Given the description of an element on the screen output the (x, y) to click on. 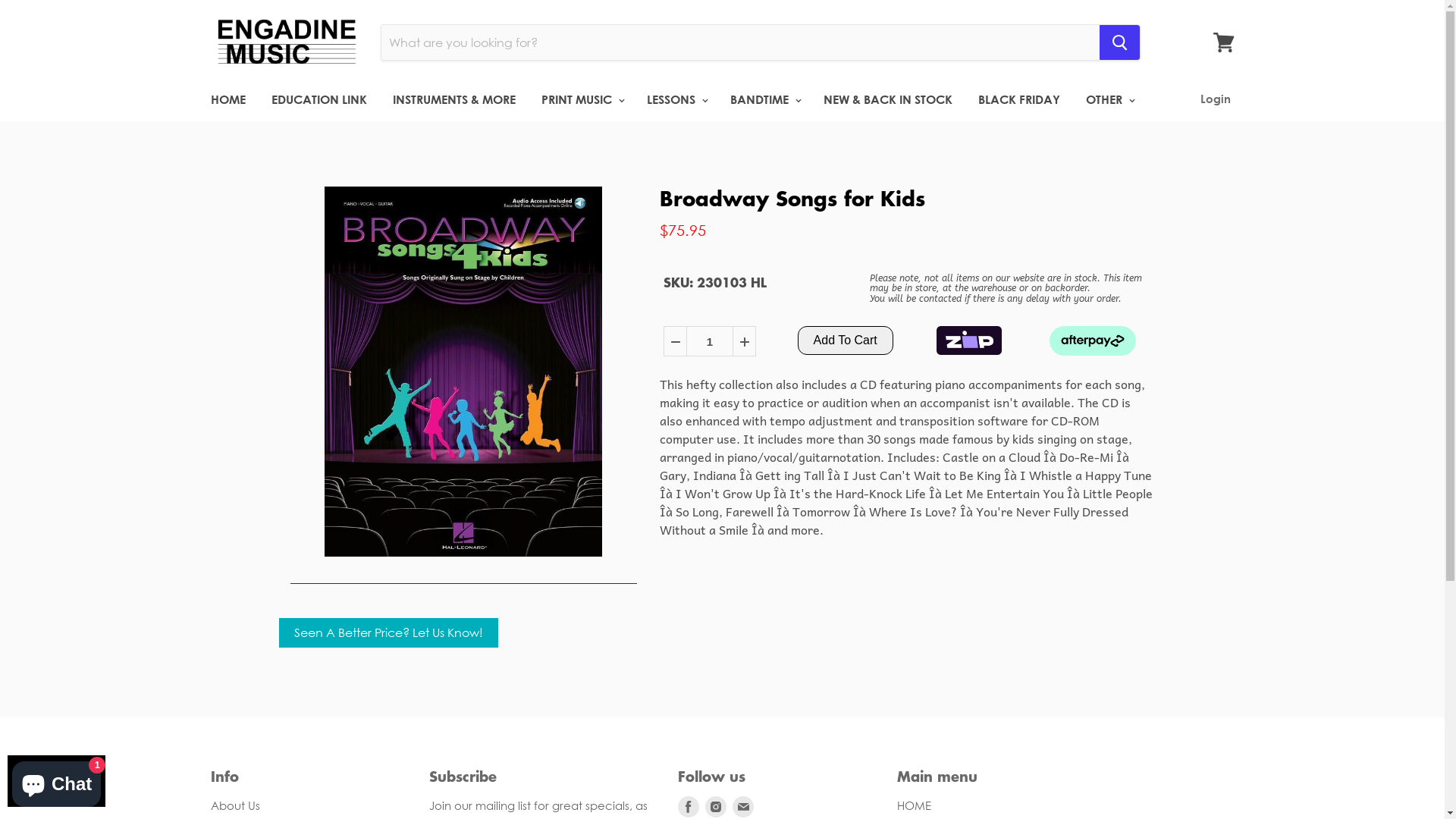
LESSONS Element type: text (675, 99)
BLACK FRIDAY Element type: text (1018, 99)
PRINT MUSIC Element type: text (580, 99)
Shopify online store chat Element type: hover (56, 780)
INSTRUMENTS & MORE Element type: text (453, 99)
Login Element type: text (1214, 99)
View cart Element type: text (1223, 42)
HOME Element type: text (227, 99)
Seen A Better Price? Let Us Know! Element type: text (388, 632)
NEW & BACK IN STOCK Element type: text (887, 99)
BANDTIME Element type: text (763, 99)
Broadway Songs for Kids Element type: text (792, 198)
EDUCATION LINK Element type: text (318, 99)
HOME Element type: text (913, 805)
About Us Element type: text (235, 805)
OTHER Element type: text (1107, 99)
